Given the description of an element on the screen output the (x, y) to click on. 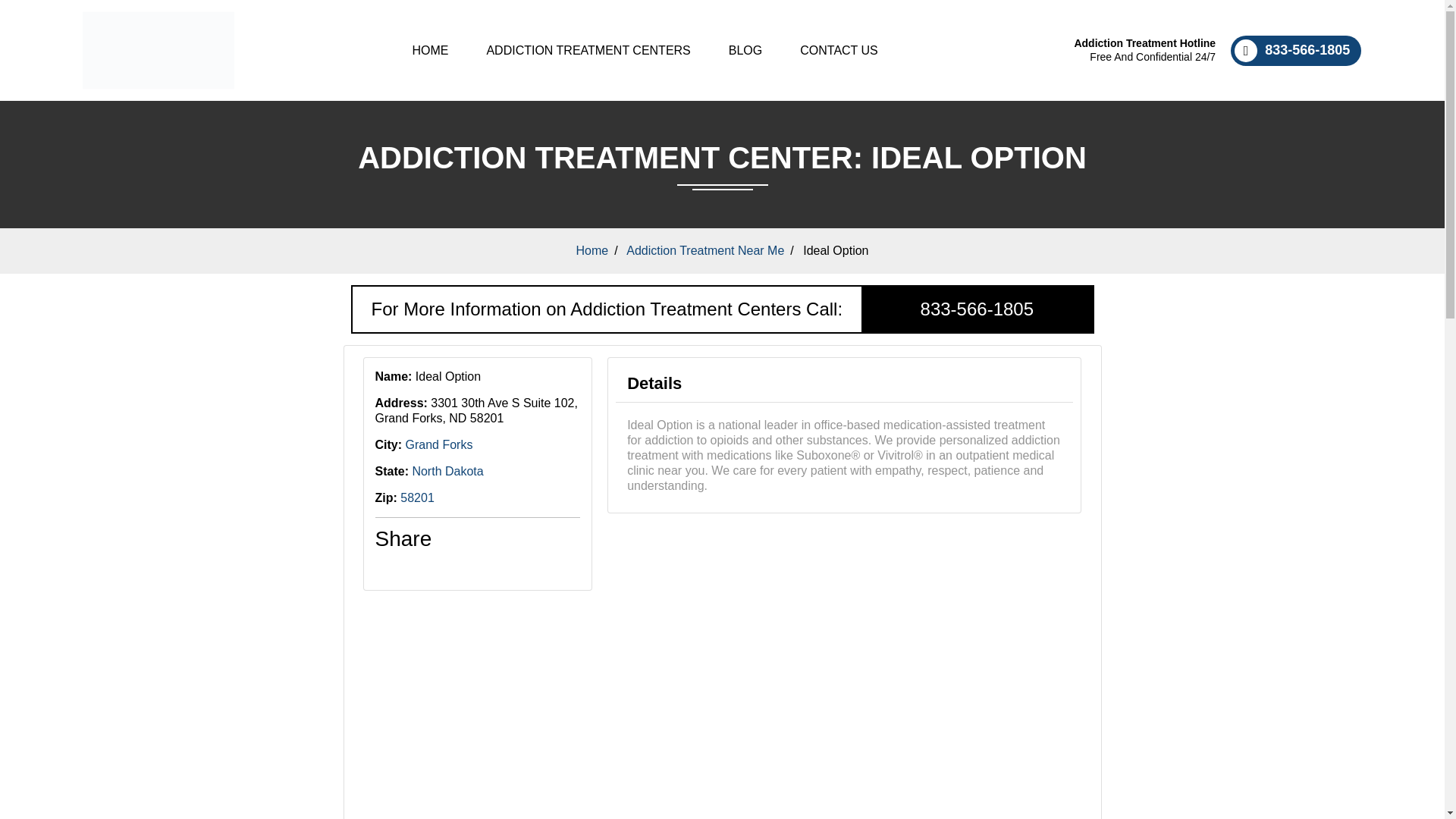
Ideal Option (835, 250)
Contact Us (838, 50)
Home (430, 50)
Addiction Treatment Near Me (705, 250)
ADDICTION TREATMENT CENTERS (588, 50)
North Dakota (447, 471)
BLOG (745, 50)
833-566-1805 (1295, 50)
CONTACT US (838, 50)
Grand Forks (439, 444)
